Given the description of an element on the screen output the (x, y) to click on. 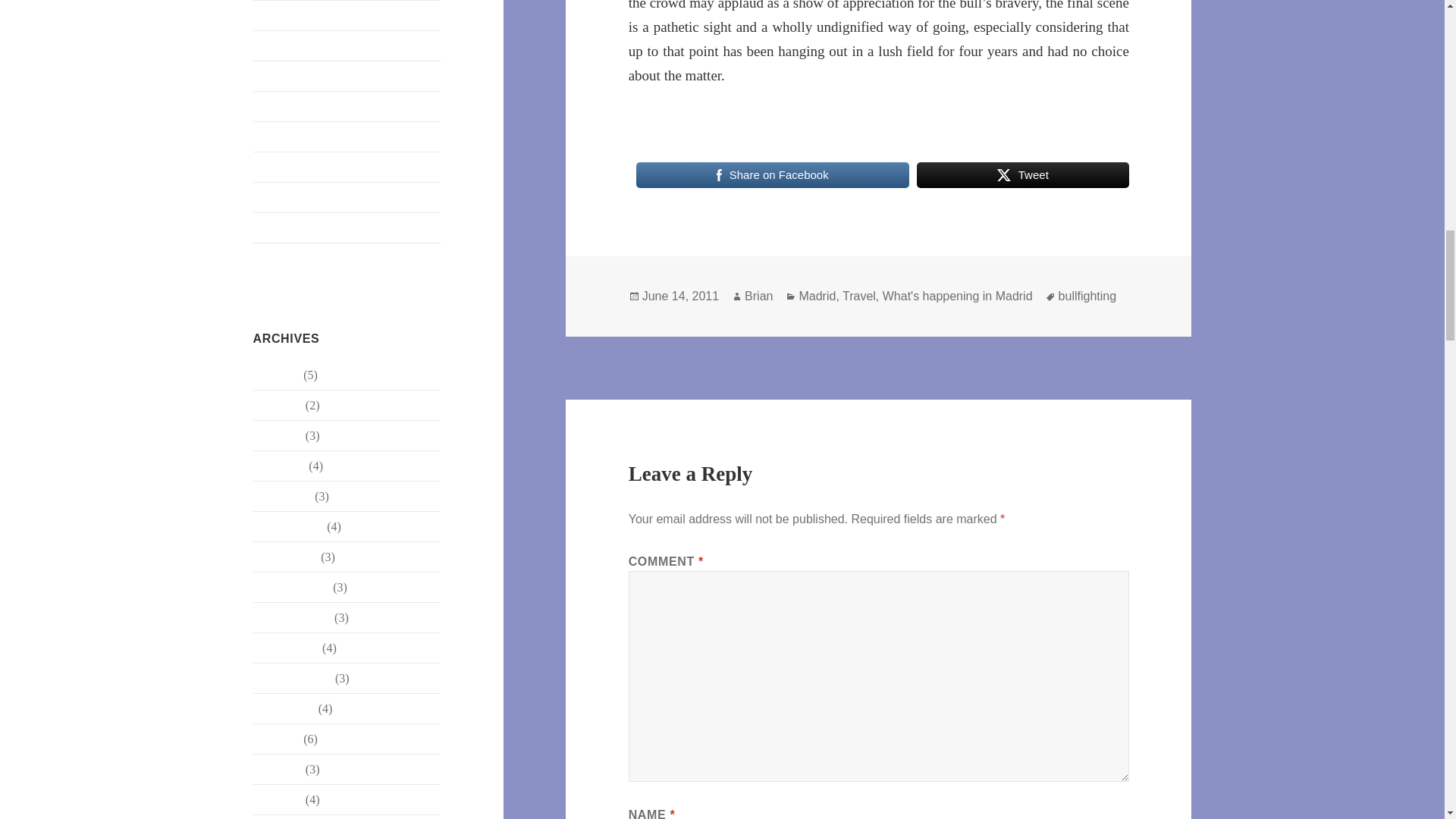
Subs, Mops and Lollipops (316, 74)
Travel (268, 135)
Twenty-Five Years and Still Running (343, 196)
What's happening in Madrid (322, 256)
Uncategorized (288, 226)
July 2024 (277, 374)
June 2024 (277, 404)
Spanish wine (285, 14)
The Desperate Artist (303, 105)
TRENDING SPAIN (302, 165)
Spanish Wine of the Week (317, 44)
